Given the description of an element on the screen output the (x, y) to click on. 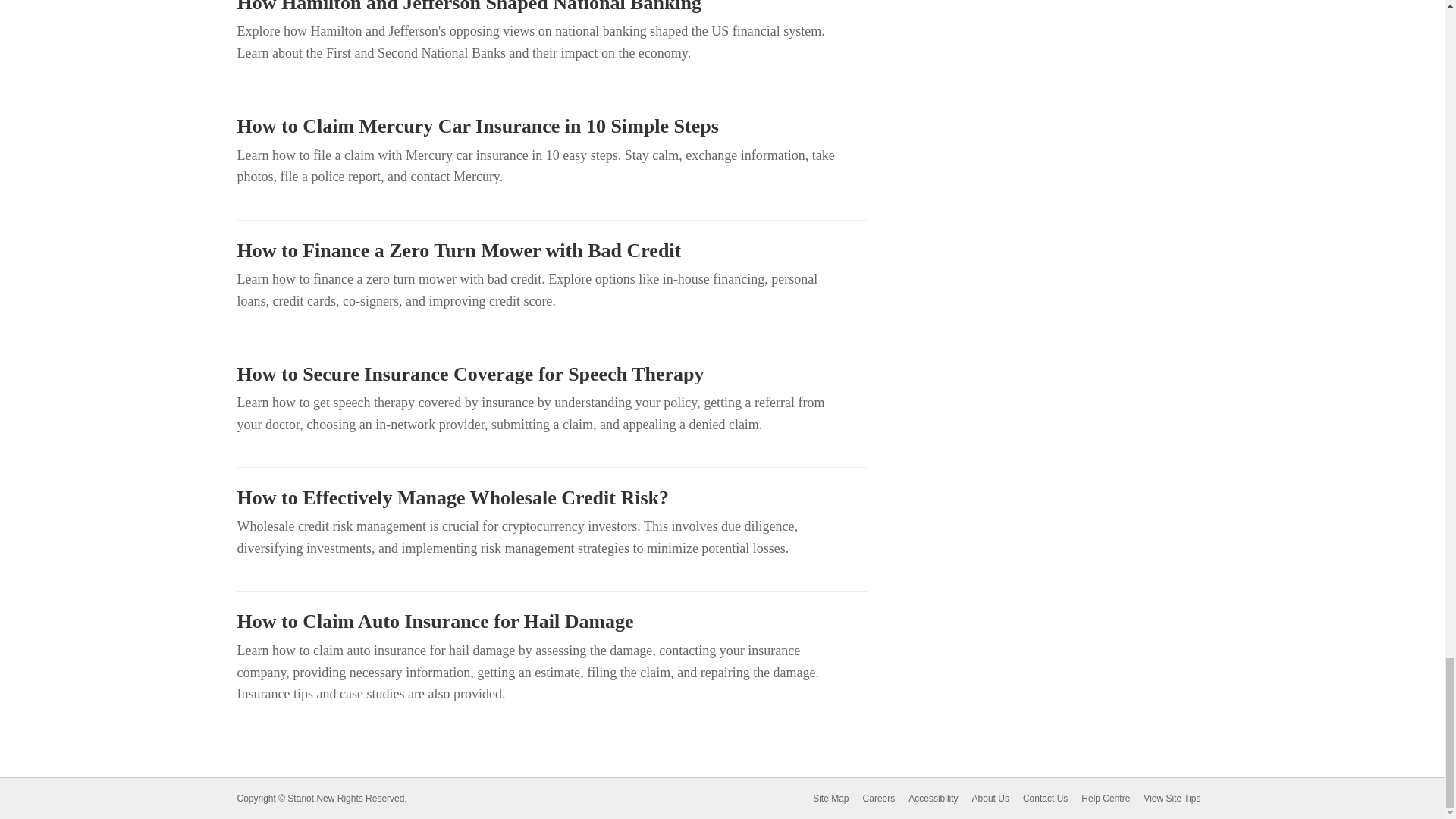
How to Claim Mercury Car Insurance in 10 Simple Steps (550, 126)
How to Finance a Zero Turn Mower with Bad Credit (550, 250)
How to Claim Auto Insurance for Hail Damage (550, 621)
How to Secure Insurance Coverage for Speech Therapy (550, 374)
How Hamilton and Jefferson Shaped National Banking (550, 7)
How to Effectively Manage Wholesale Credit Risk? (550, 497)
